Given the description of an element on the screen output the (x, y) to click on. 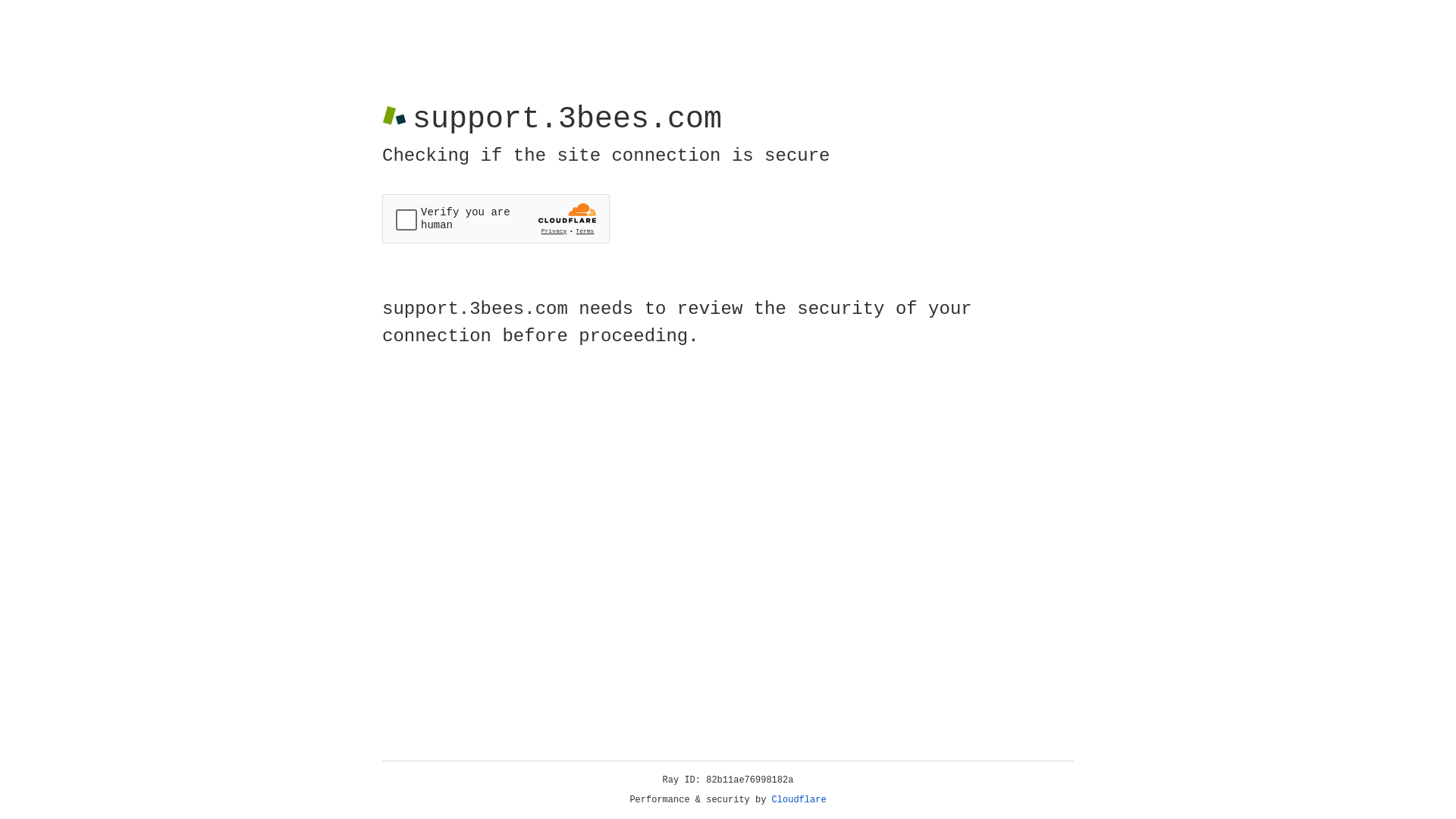
Widget containing a Cloudflare security challenge Element type: hover (495, 218)
Cloudflare Element type: text (798, 799)
